Given the description of an element on the screen output the (x, y) to click on. 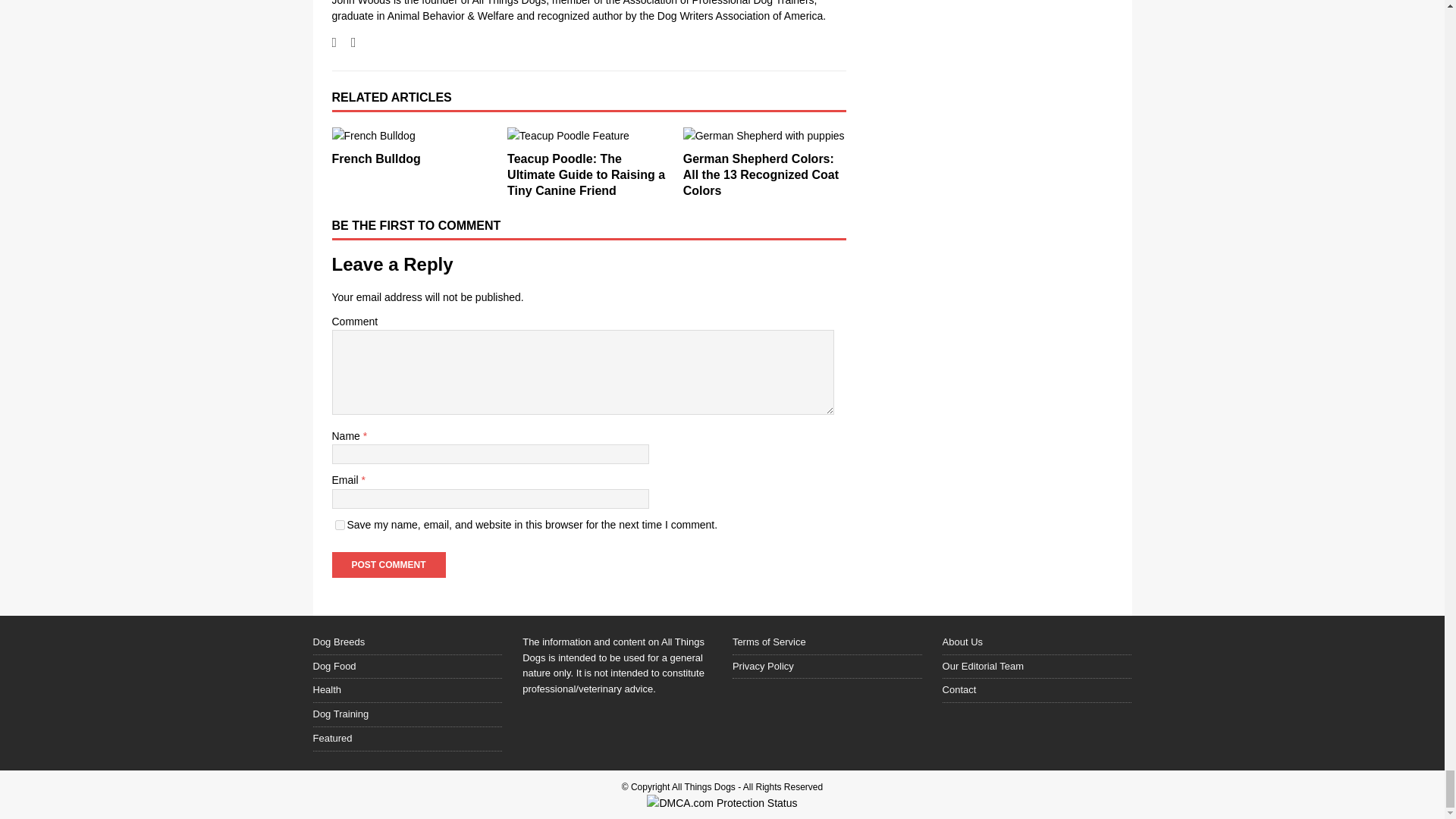
yes (339, 524)
French Bulldog (413, 135)
French Bulldog (375, 158)
Follow John Woods on YouTube (347, 42)
Post Comment (388, 565)
